Given the description of an element on the screen output the (x, y) to click on. 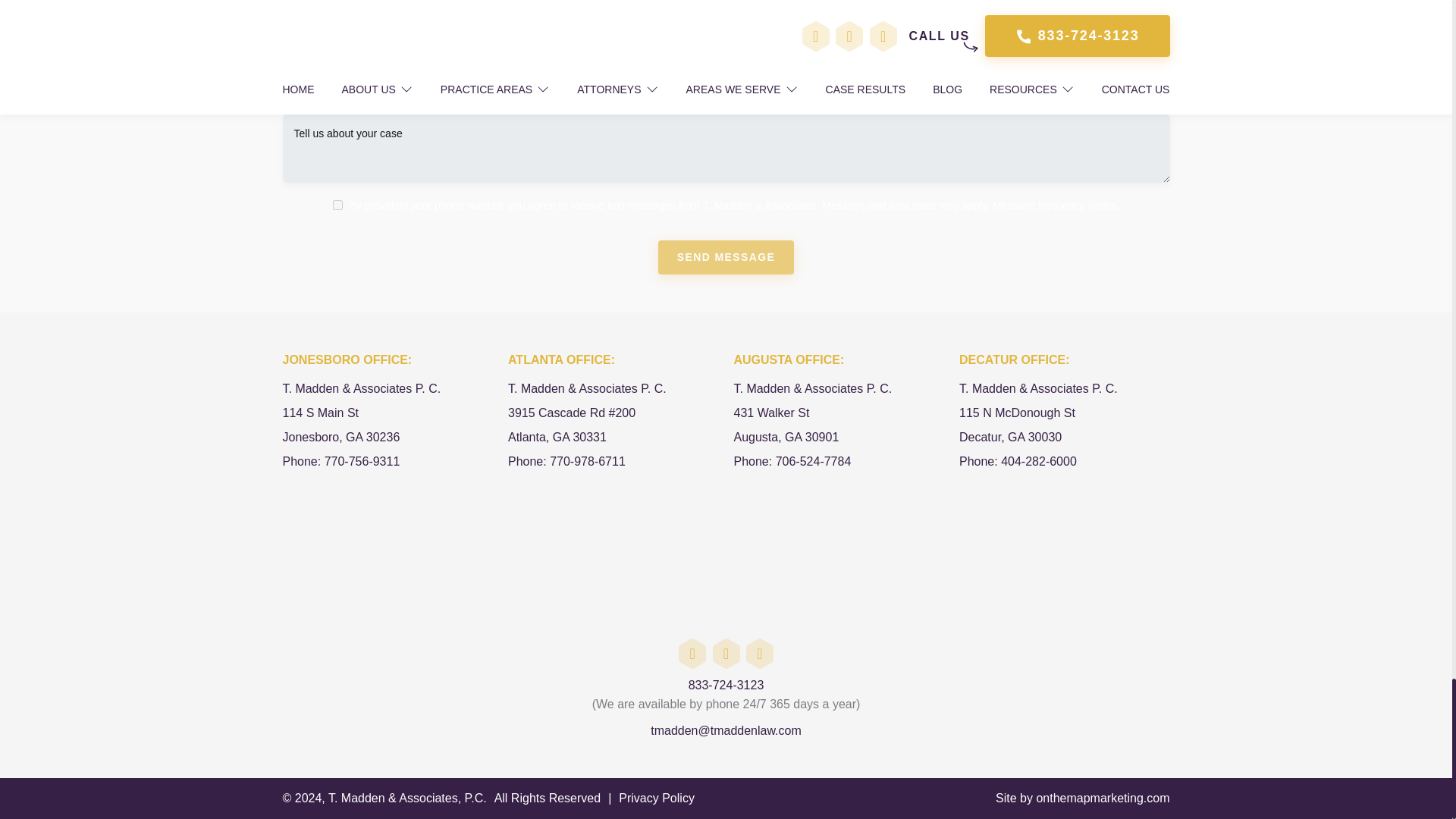
Click to Submit (726, 257)
Get Directions (387, 421)
on (337, 204)
Get Directions (613, 421)
Call Us (340, 461)
